Given the description of an element on the screen output the (x, y) to click on. 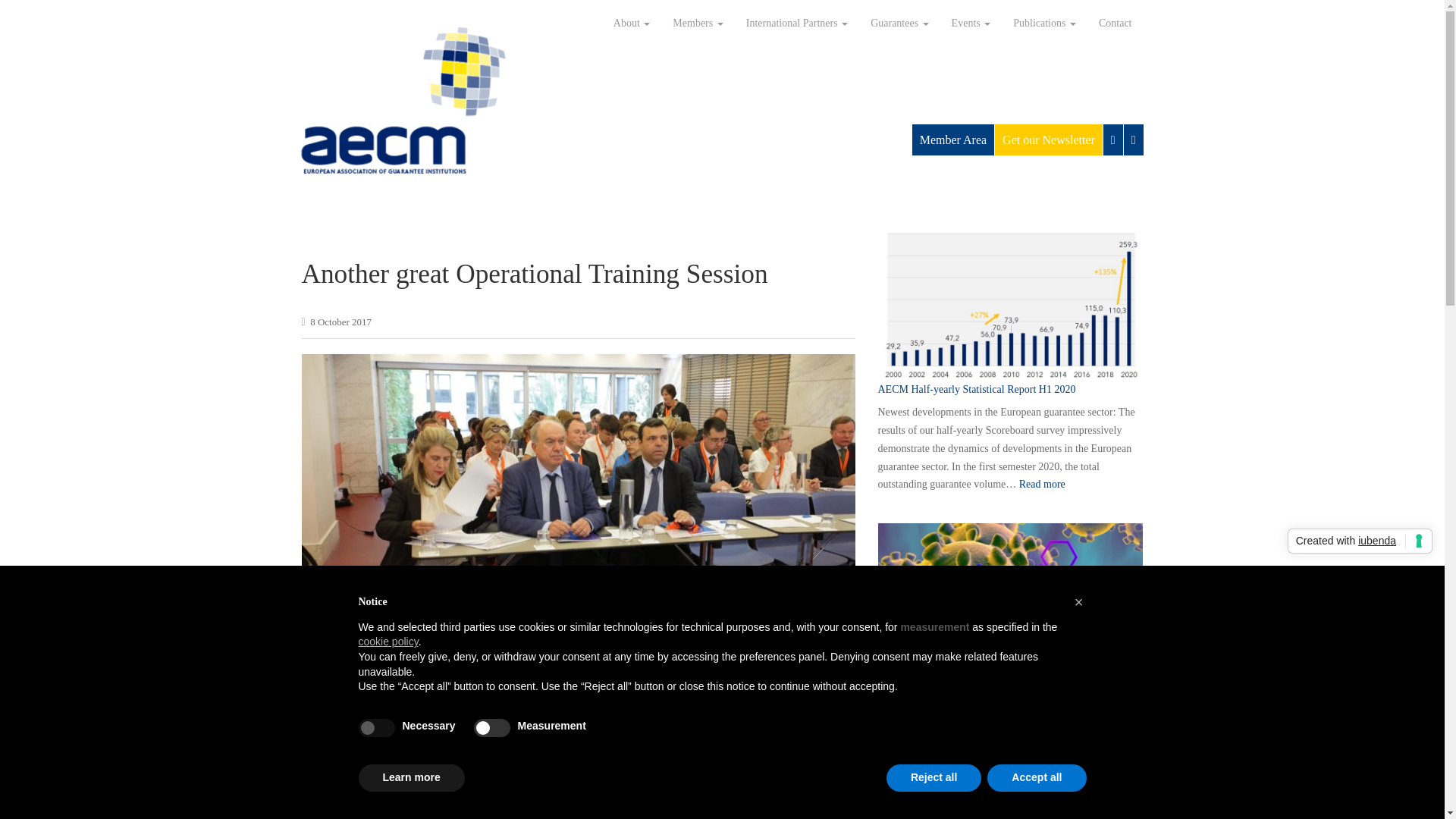
Member Area (953, 139)
About (632, 24)
About (632, 24)
false (492, 728)
Get our Newsletter (1048, 139)
true (376, 728)
Members (697, 24)
Events (971, 24)
8 October 2017 (340, 321)
Publications (1044, 24)
